Given the description of an element on the screen output the (x, y) to click on. 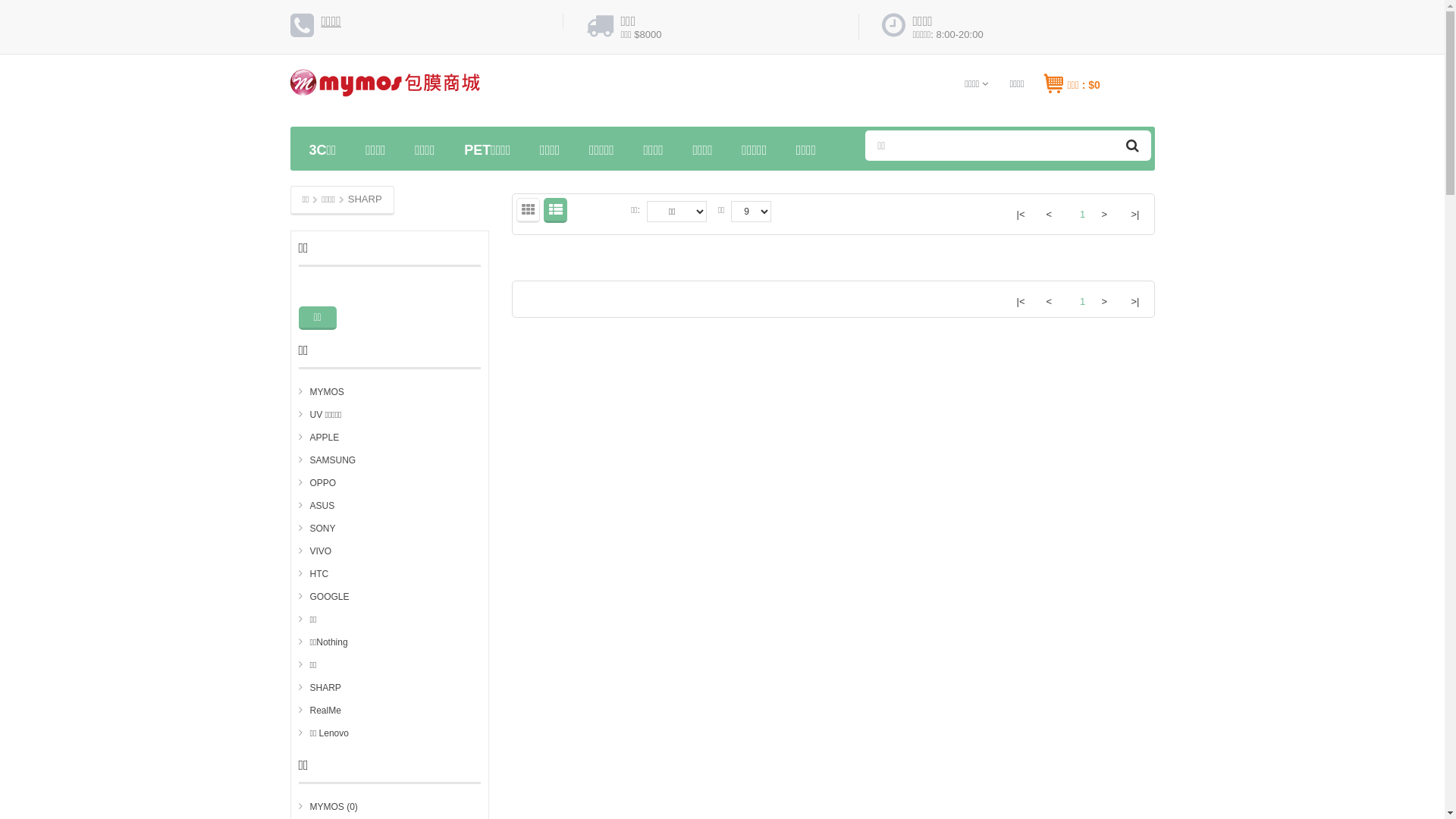
< Element type: text (1050, 300)
|< Element type: text (1020, 212)
MYMOS (0) Element type: text (327, 806)
SAMSUNG Element type: text (327, 460)
MYMOS Element type: text (321, 391)
1 Element type: text (1077, 296)
HTC Element type: text (313, 573)
|< Element type: text (1020, 300)
> Element type: text (1105, 212)
1 Element type: text (1077, 208)
SONY Element type: text (316, 528)
> Element type: text (1105, 300)
>| Element type: text (1135, 300)
VIVO Element type: text (315, 551)
OPPO Element type: text (317, 482)
RealMe Element type: text (319, 710)
Mymos Element type: hover (384, 89)
>| Element type: text (1135, 212)
SHARP Element type: text (319, 687)
< Element type: text (1050, 212)
APPLE Element type: text (318, 437)
GOOGLE Element type: text (323, 596)
ASUS Element type: text (316, 505)
